Given the description of an element on the screen output the (x, y) to click on. 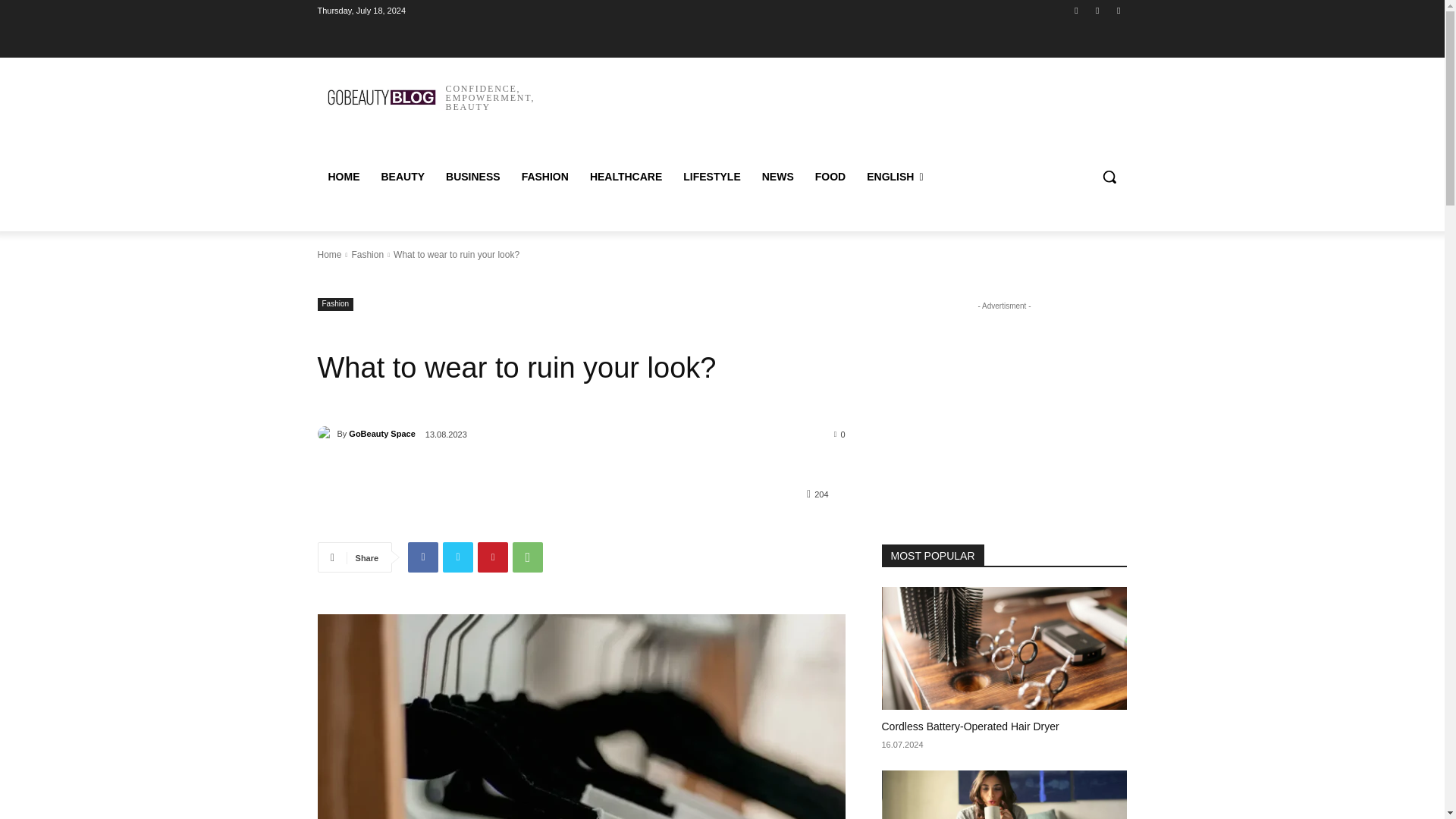
Facebook (1075, 9)
Advertisement (849, 112)
LIFESTYLE (711, 176)
BUSINESS (473, 176)
FOOD (830, 176)
BEAUTY (402, 176)
HOME (343, 176)
CONFIDENCE, EMPOWERMENT, BEAUTY (425, 96)
NEWS (778, 176)
Youtube (1117, 9)
ENGLISH (894, 176)
FASHION (545, 176)
View all posts in Fashion (367, 254)
Instagram (1097, 9)
HEALTHCARE (625, 176)
